Given the description of an element on the screen output the (x, y) to click on. 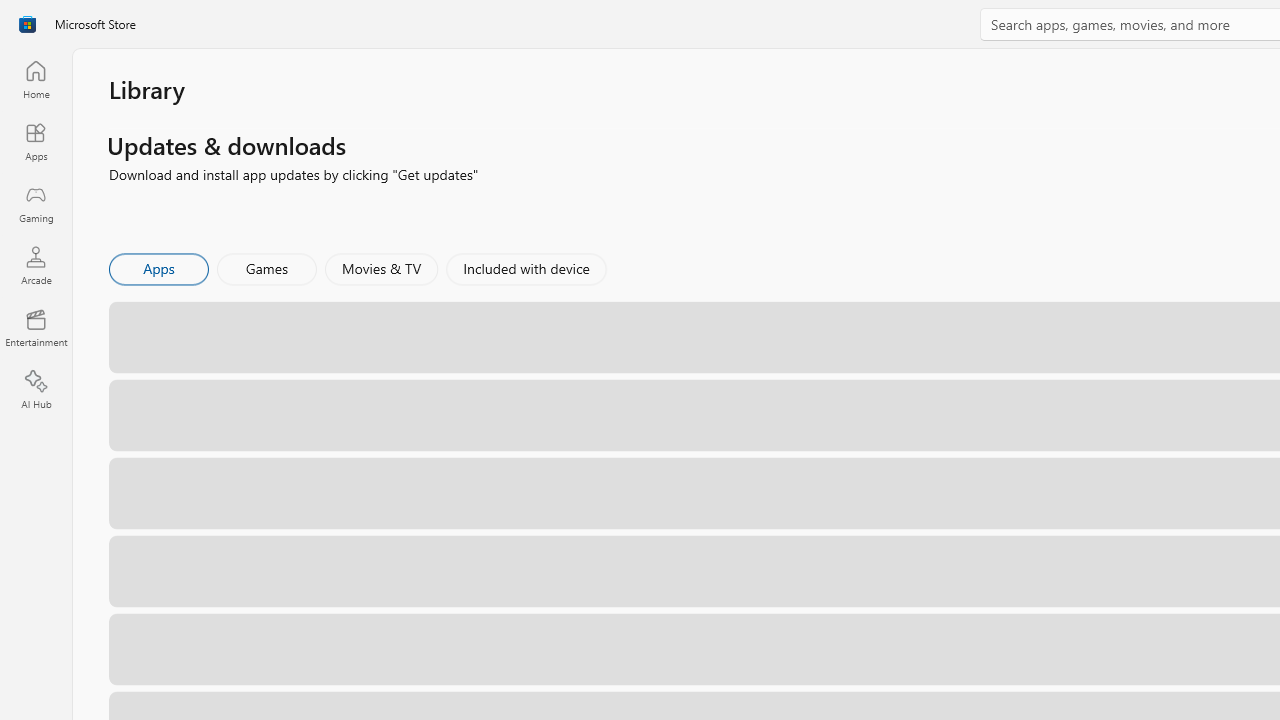
Movies & TV (381, 268)
Arcade (35, 265)
Class: Image (27, 24)
Apps (158, 268)
Included with device (525, 268)
Gaming (35, 203)
AI Hub (35, 390)
Apps (35, 141)
Entertainment (35, 327)
Games (267, 268)
Home (35, 79)
